Given the description of an element on the screen output the (x, y) to click on. 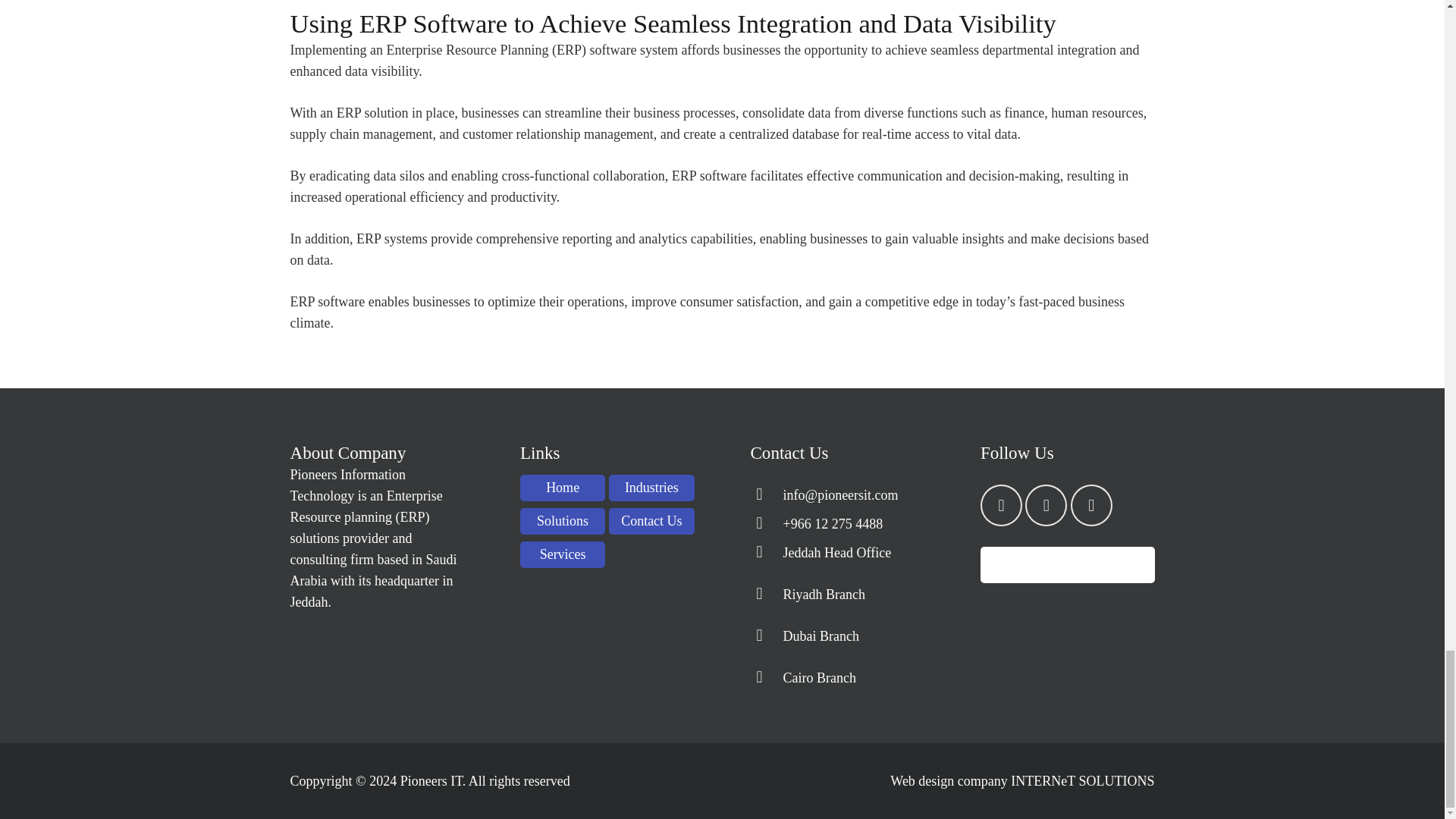
YouTube (1091, 505)
Facebook (1046, 505)
LinkedIn (1000, 505)
Golden Partner (1067, 564)
